Given the description of an element on the screen output the (x, y) to click on. 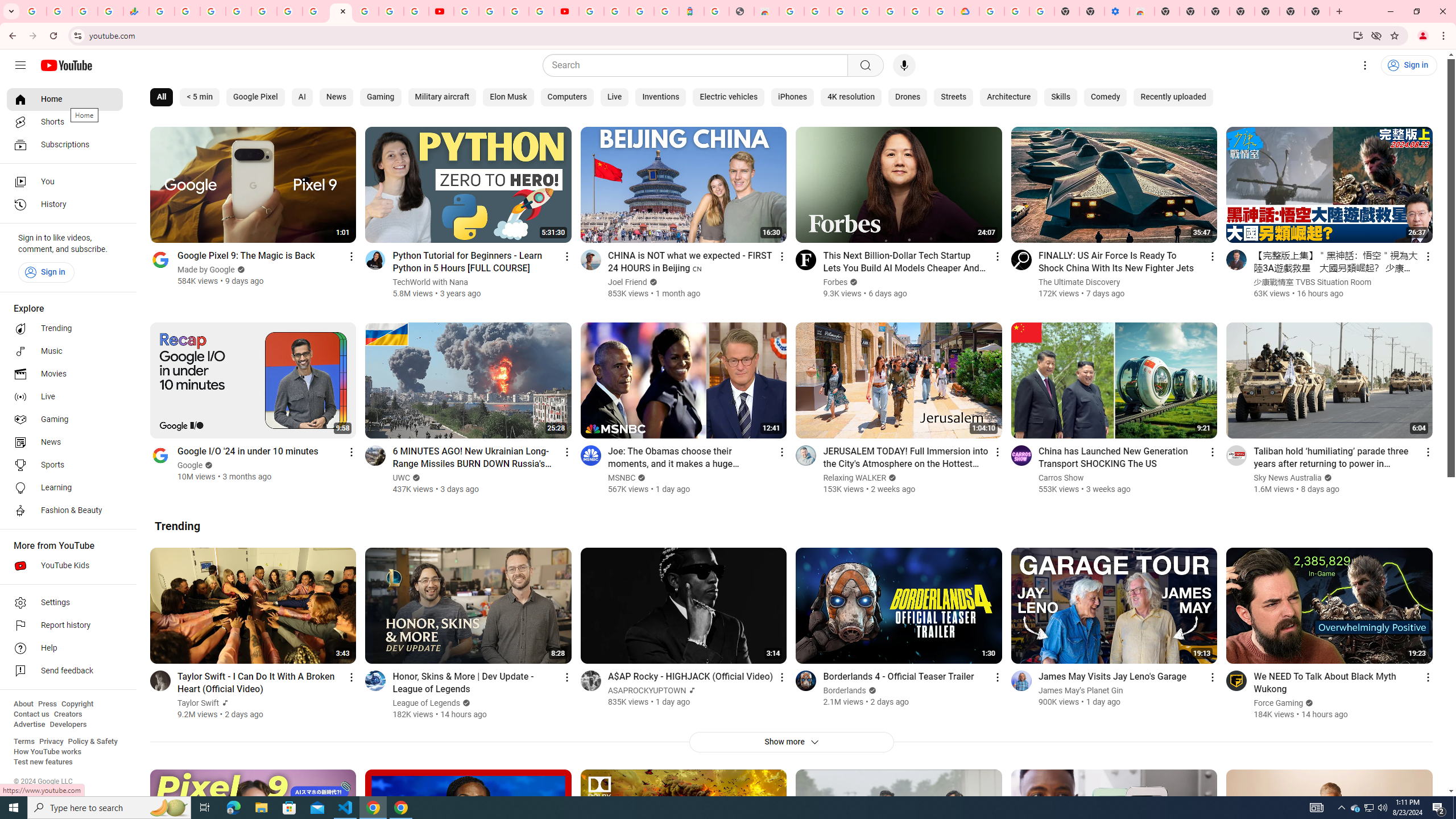
Sign in - Google Accounts (841, 11)
Sign in - Google Accounts (590, 11)
UWC (401, 477)
Made by Google (206, 269)
New Tab (1317, 11)
Sign in - Google Accounts (365, 11)
Google Workspace Admin Community (34, 11)
Taylor Swift (198, 702)
Movies (64, 373)
Sign in - Google Accounts (991, 11)
Search with your voice (903, 65)
